Given the description of an element on the screen output the (x, y) to click on. 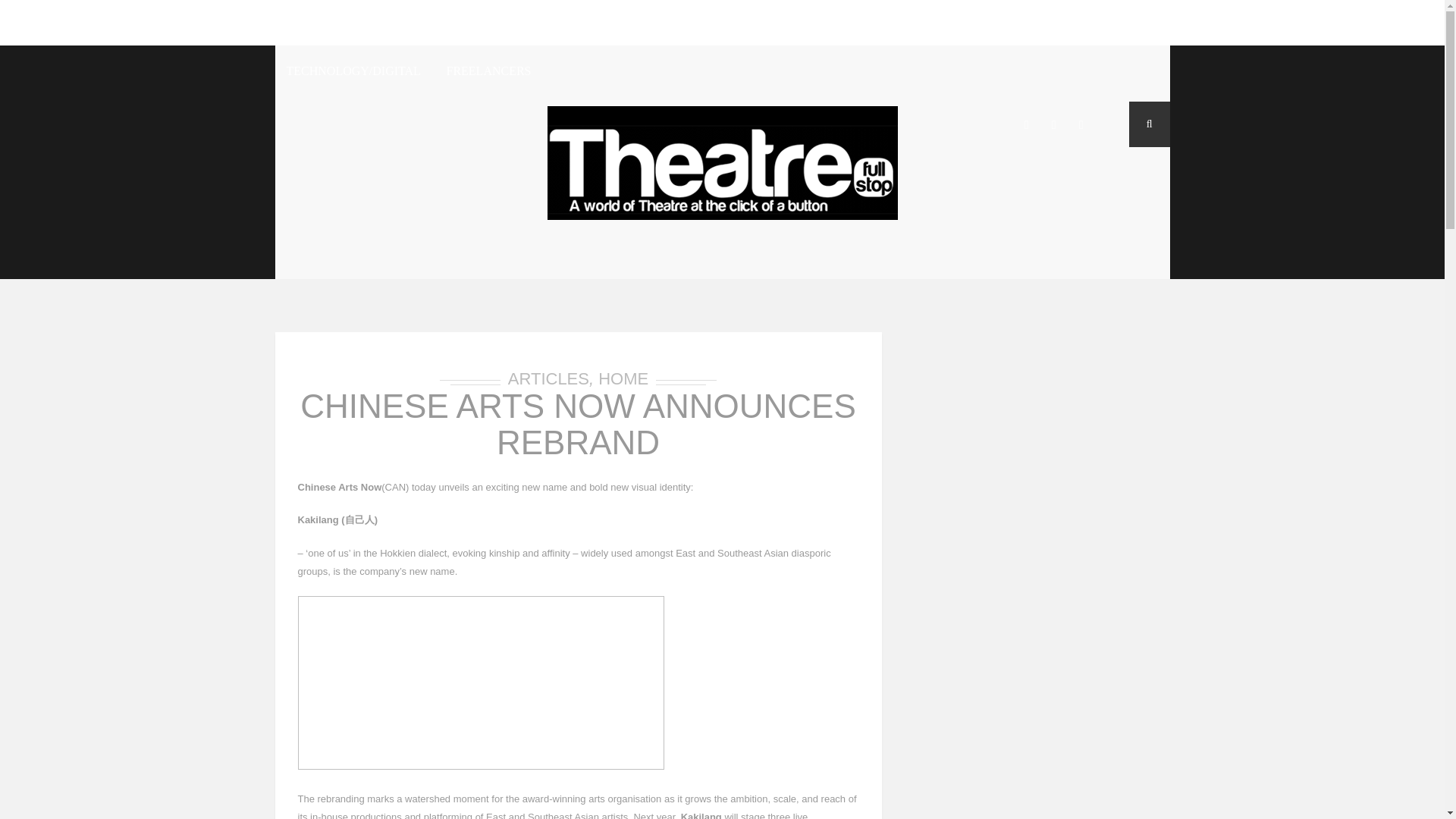
INTERVIEWS (519, 22)
FREELANCERS (487, 72)
ABOUT (356, 22)
REVIEWS (429, 22)
ARTICLES (609, 22)
HOME (298, 22)
WELLNESS (1027, 22)
COMPETITIONS (852, 22)
EVENTS (946, 22)
